Given the description of an element on the screen output the (x, y) to click on. 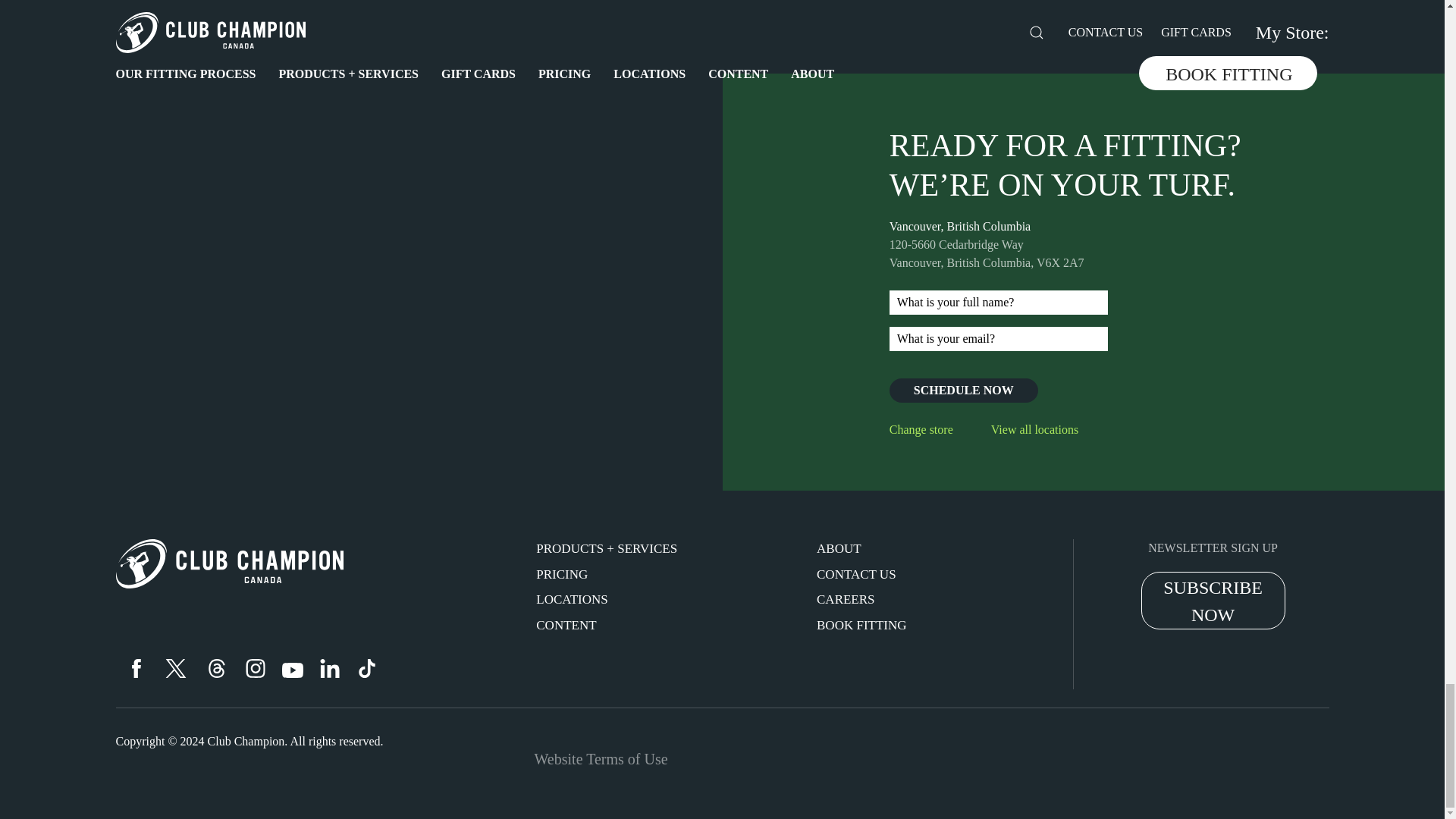
Link to Our YouTube (292, 670)
Link to Our Threads (216, 668)
Link to Our Facebook (135, 668)
Link to Our Tiktok (366, 668)
Link to Our LinkedIn (330, 668)
Link to Our Instagram (256, 668)
